Given the description of an element on the screen output the (x, y) to click on. 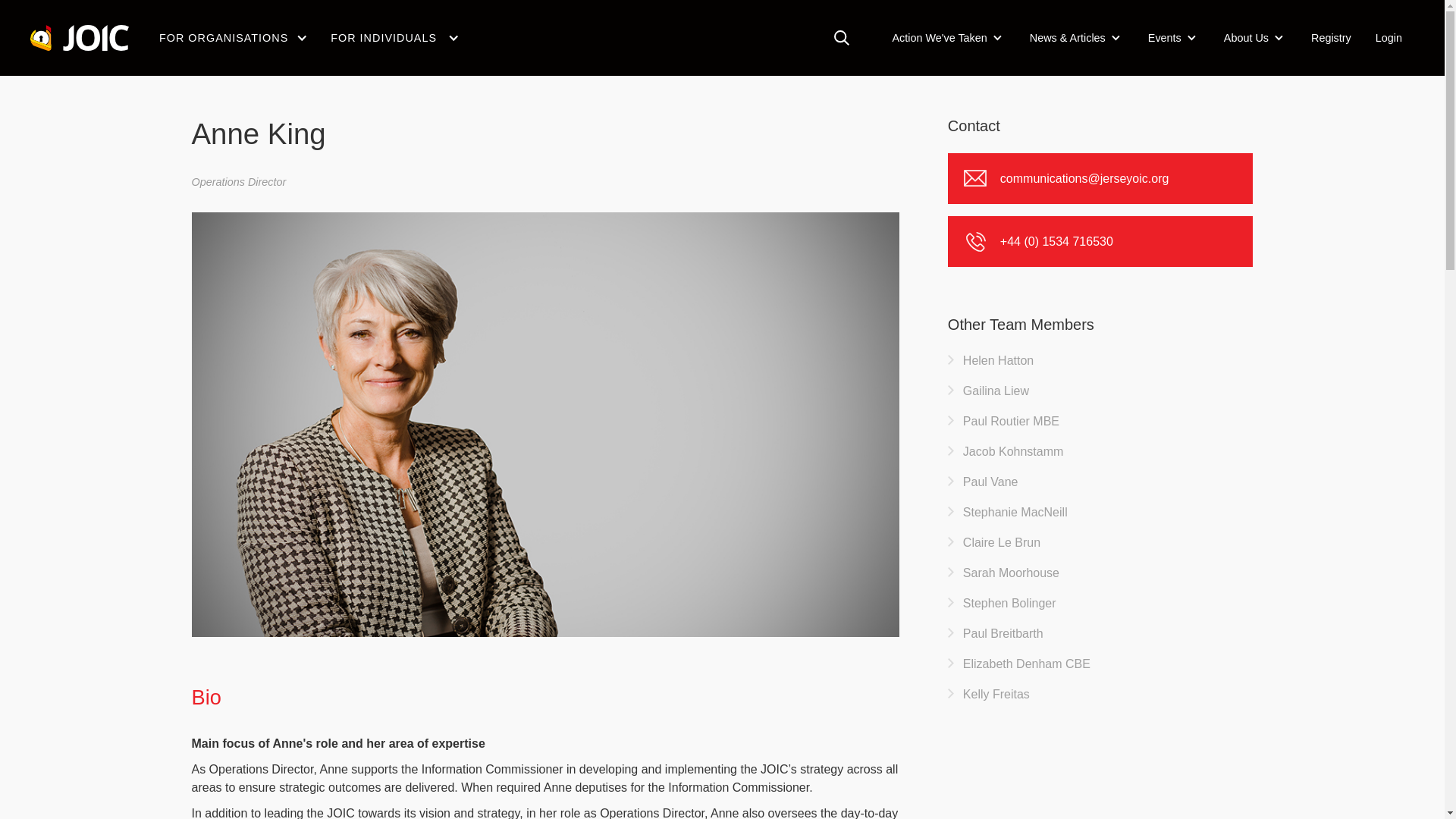
Team (265, 33)
Home (204, 33)
Registry (1330, 37)
Anne King (336, 33)
FOR INDIVIDUALS (383, 37)
FOR ORGANISATIONS (223, 37)
Login (1387, 37)
